Given the description of an element on the screen output the (x, y) to click on. 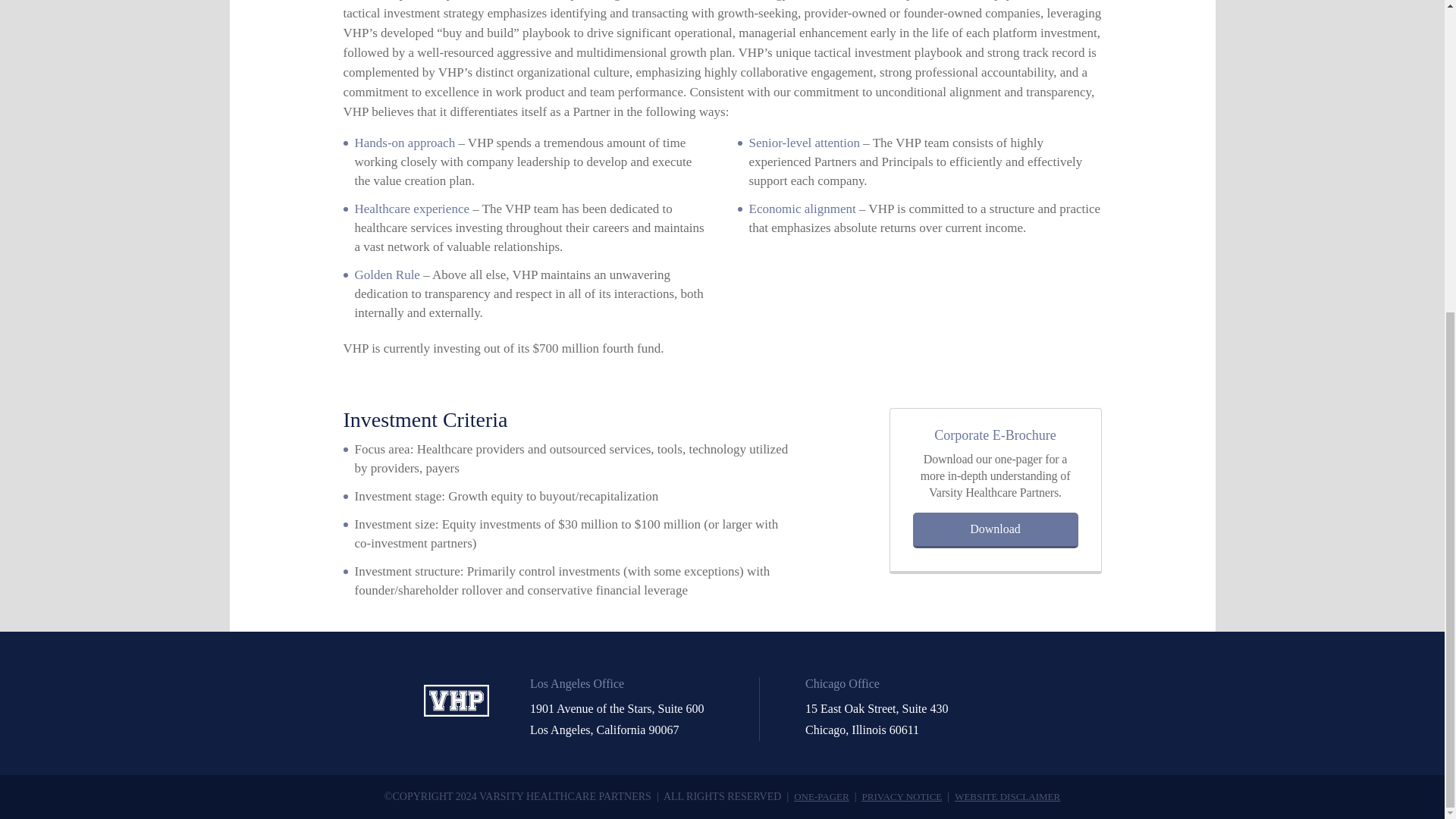
Download (995, 529)
WEBSITE DISCLAIMER (1007, 796)
PRIVACY NOTICE (901, 796)
ONE-PAGER (820, 796)
